Given the description of an element on the screen output the (x, y) to click on. 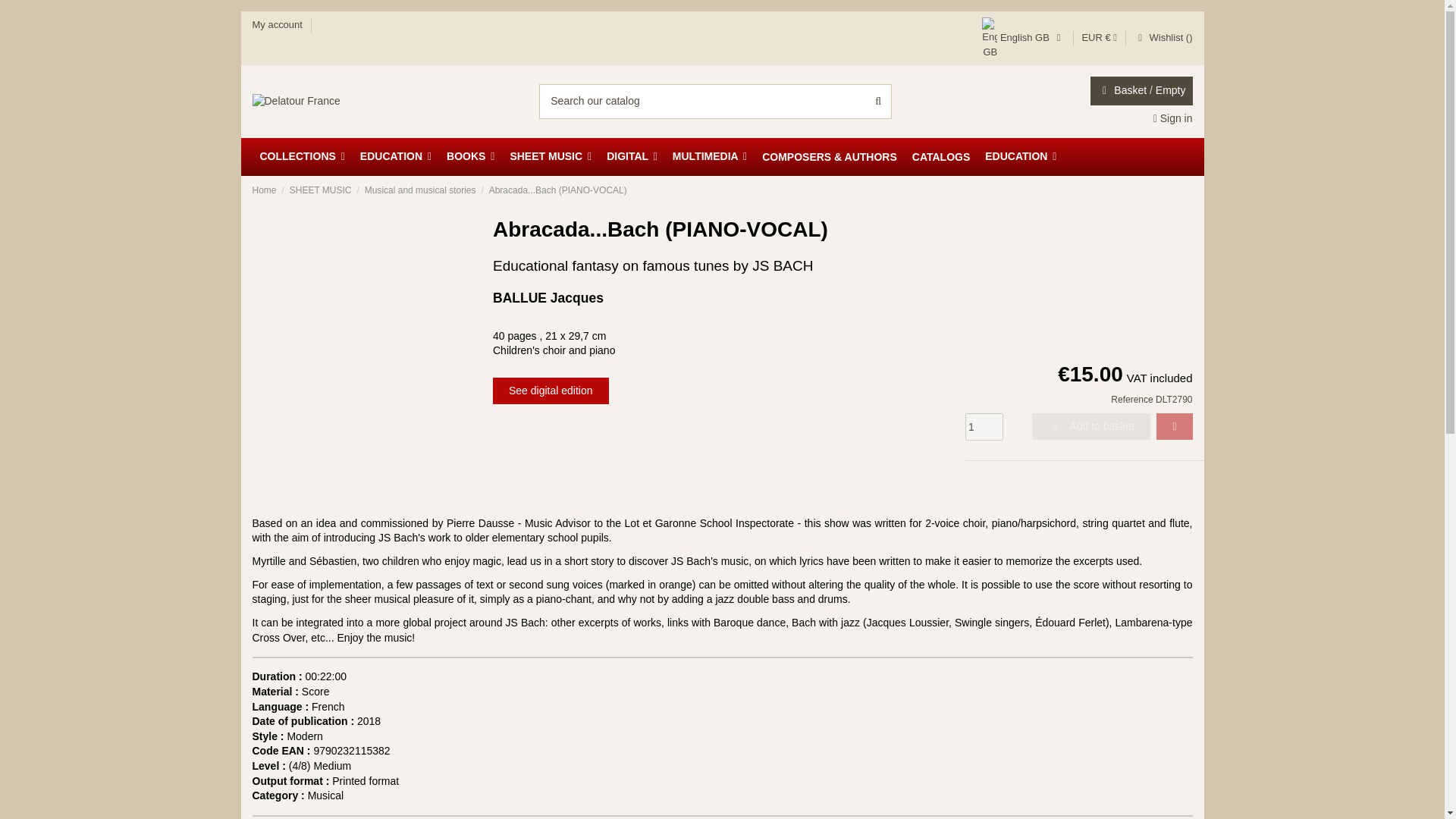
COLLECTIONS (301, 157)
Sign in (1172, 118)
Log in to your customer account (1172, 118)
My account (277, 24)
Add to wishlist (1174, 426)
English GB (1022, 37)
1 (984, 426)
